Given the description of an element on the screen output the (x, y) to click on. 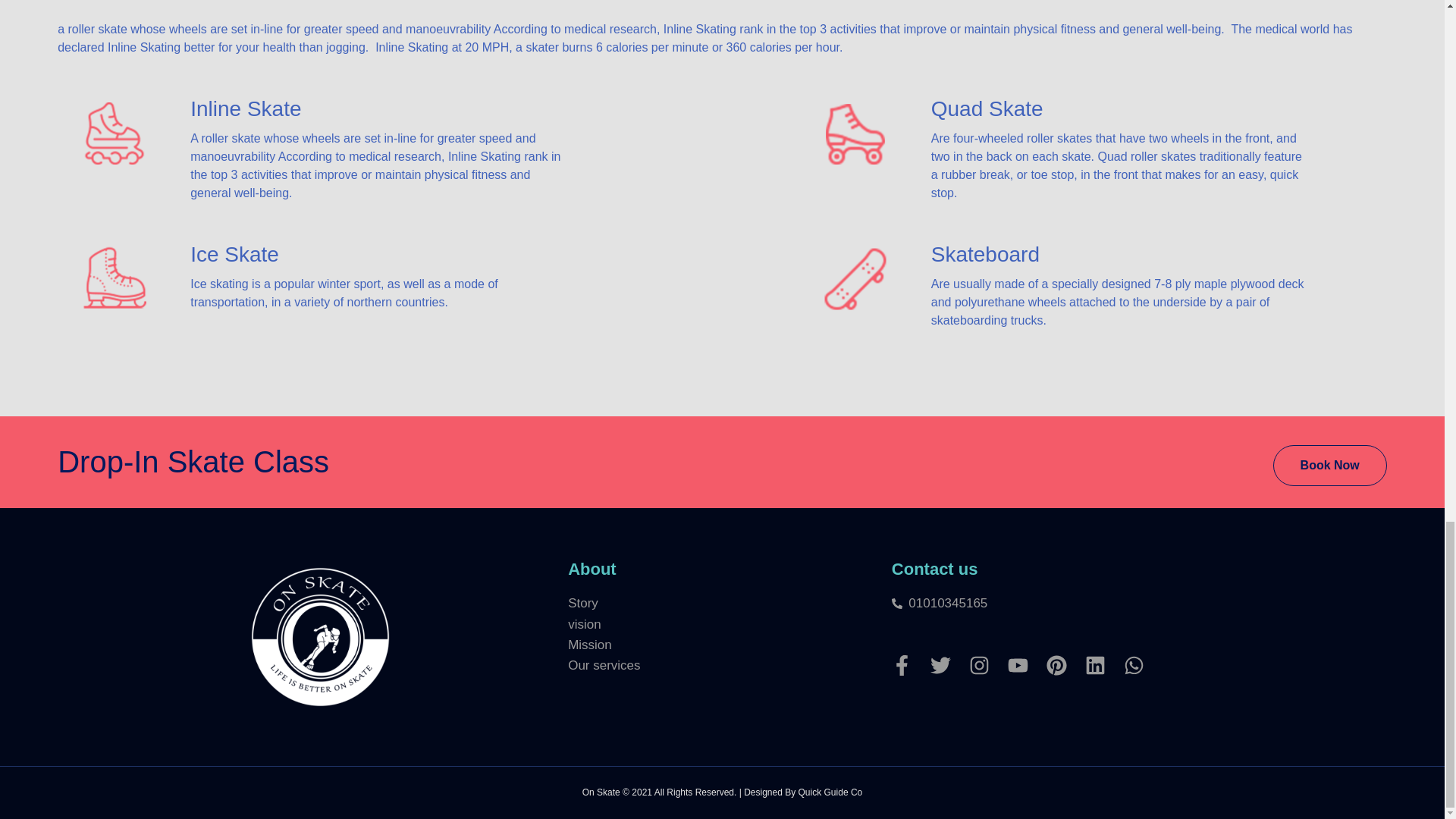
Book Now (1329, 465)
01010345165 (1045, 602)
Quick Guide Co (830, 792)
